Given the description of an element on the screen output the (x, y) to click on. 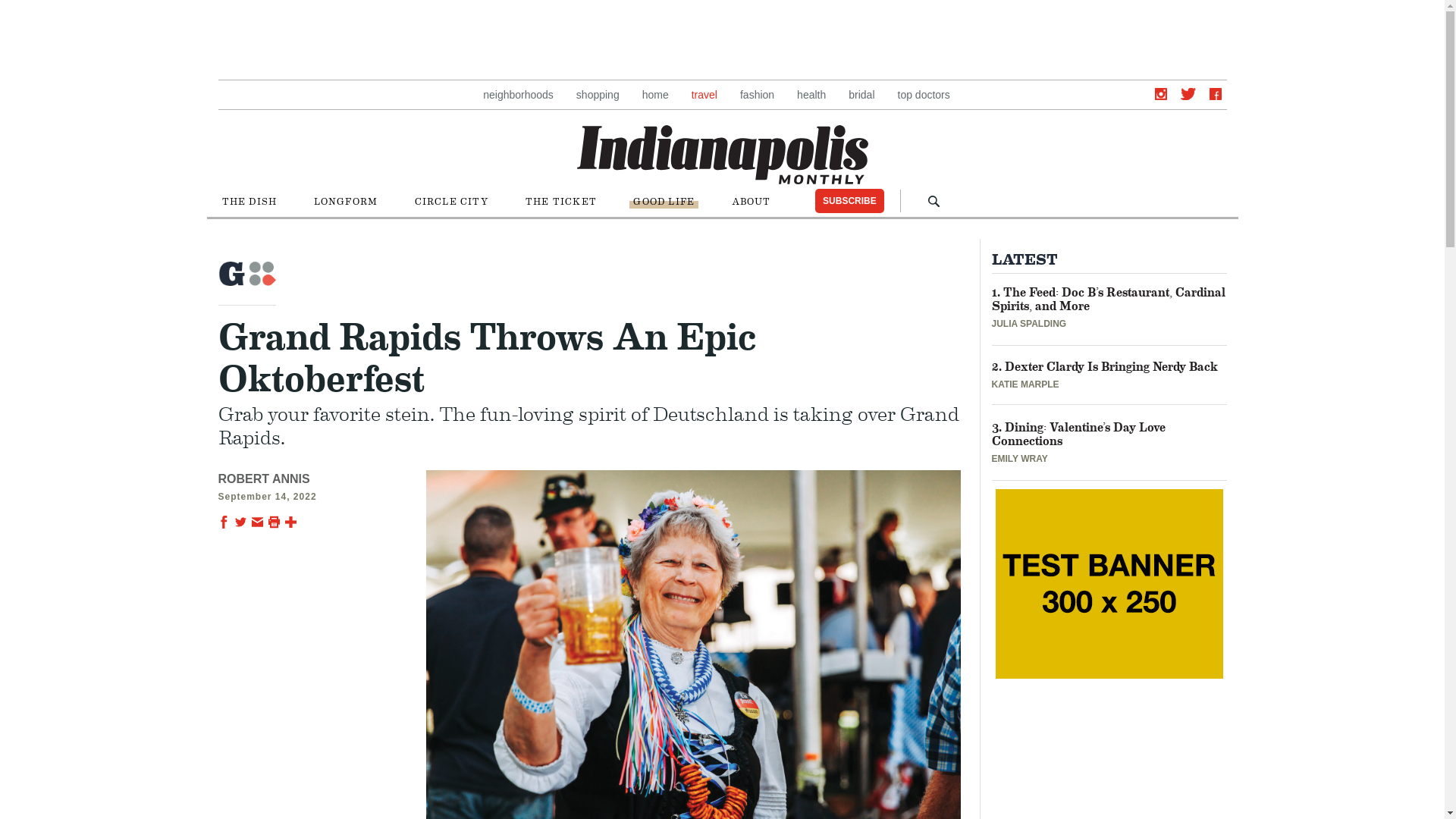
GOOD LIFE (663, 201)
Sign Up (798, 504)
shopping (597, 94)
instagram (1161, 92)
top doctors (923, 94)
300x250-test.jpg (1108, 583)
LONGFORM (344, 201)
twitter (1186, 92)
search (933, 201)
facebook (1214, 93)
bridal (861, 94)
fashion (757, 94)
Posts by Robert Annis (264, 478)
facebook (1215, 92)
health (811, 94)
